Given the description of an element on the screen output the (x, y) to click on. 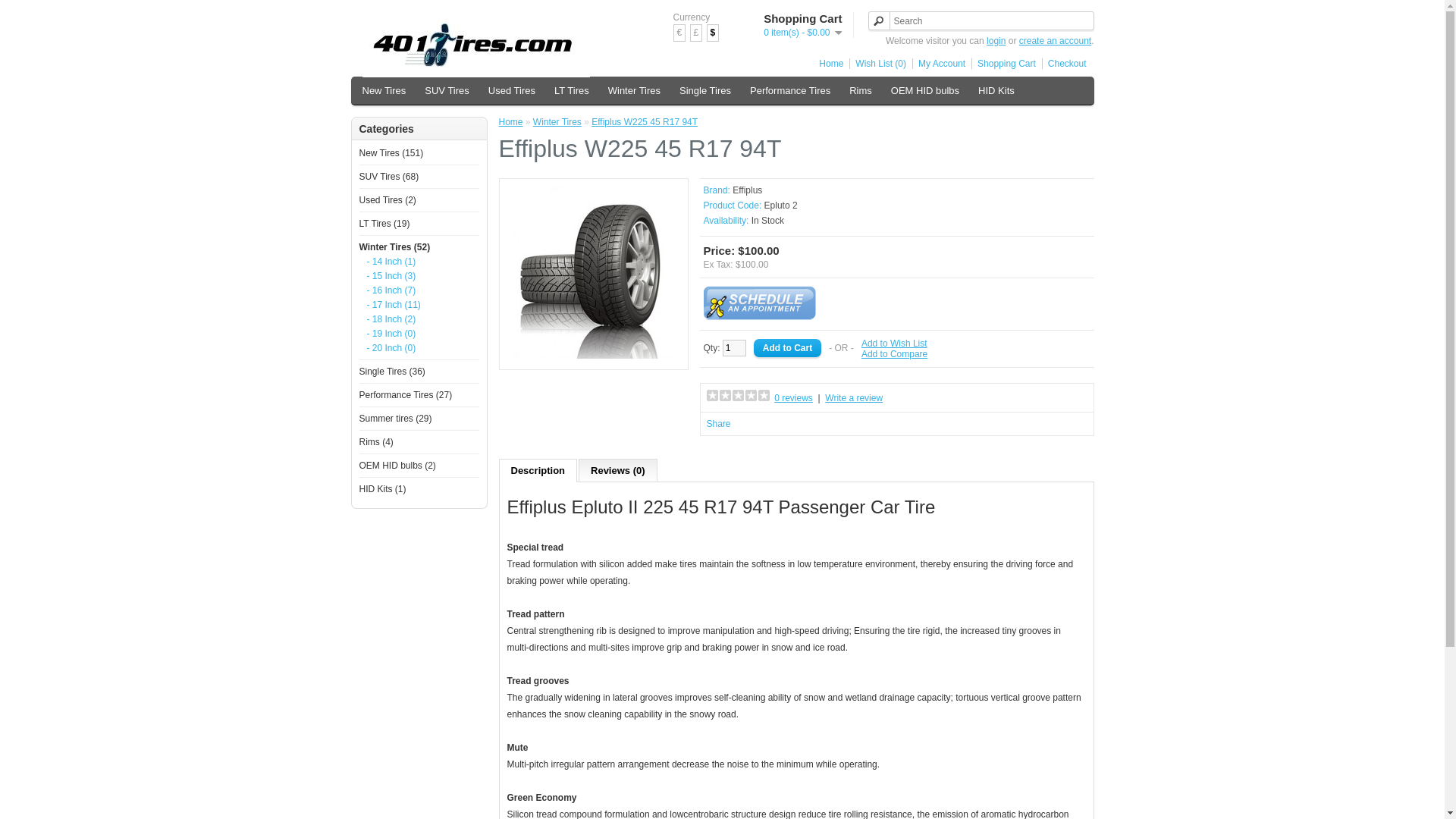
Winter Tires Element type: text (557, 121)
Effiplus W225 45 R17 94T Element type: text (644, 121)
Effiplus Element type: text (747, 190)
HID Kits (1) Element type: text (382, 488)
0 item(s) - $0.00 Element type: text (801, 32)
Rims (4) Element type: text (376, 441)
Single Tires Element type: text (704, 90)
Shopping Cart Element type: text (1003, 63)
Effiplus W225 45 R17 94T Element type: hover (592, 356)
SUV Tires (68) Element type: text (389, 176)
Wish List (0) Element type: text (877, 63)
Effiplus W225 45 R17 94T Element type: hover (592, 272)
Rims Element type: text (860, 90)
- 20 Inch (0) Element type: text (418, 347)
Add to Compare Element type: text (894, 353)
- 17 Inch (11) Element type: text (418, 304)
Reviews (0) Element type: text (617, 469)
- 15 Inch (3) Element type: text (418, 275)
HID Kits Element type: text (996, 90)
Share Element type: text (718, 423)
Checkout Element type: text (1063, 63)
LT Tires Element type: text (571, 90)
SUV Tires Element type: text (446, 90)
Single Tires (36) Element type: text (392, 371)
Write a review Element type: text (853, 397)
Winter Tires (52) Element type: text (394, 246)
Home Element type: text (828, 63)
Used Tires Element type: text (511, 90)
Best DEALS on New and Used Tires in Greater Toronto Area Element type: hover (475, 47)
login Element type: text (995, 40)
Used Tires (2) Element type: text (387, 199)
LT Tires (19) Element type: text (384, 223)
Performance Tires (27) Element type: text (405, 394)
- 16 Inch (7) Element type: text (418, 290)
$ Element type: text (712, 32)
New Tires (151) Element type: text (391, 152)
0 reviews Element type: text (793, 397)
OEM HID bulbs Element type: text (924, 90)
- 18 Inch (2) Element type: text (418, 318)
Description Element type: text (537, 470)
- 14 Inch (1) Element type: text (418, 261)
OEM HID bulbs (2) Element type: text (397, 465)
- 19 Inch (0) Element type: text (418, 333)
create an account Element type: text (1055, 40)
Home Element type: text (510, 121)
My Account Element type: text (938, 63)
Summer tires (29) Element type: text (395, 418)
Add to Wish List Element type: text (894, 343)
New Tires Element type: text (384, 90)
Performance Tires Element type: text (789, 90)
Winter Tires Element type: text (634, 90)
